Given the description of an element on the screen output the (x, y) to click on. 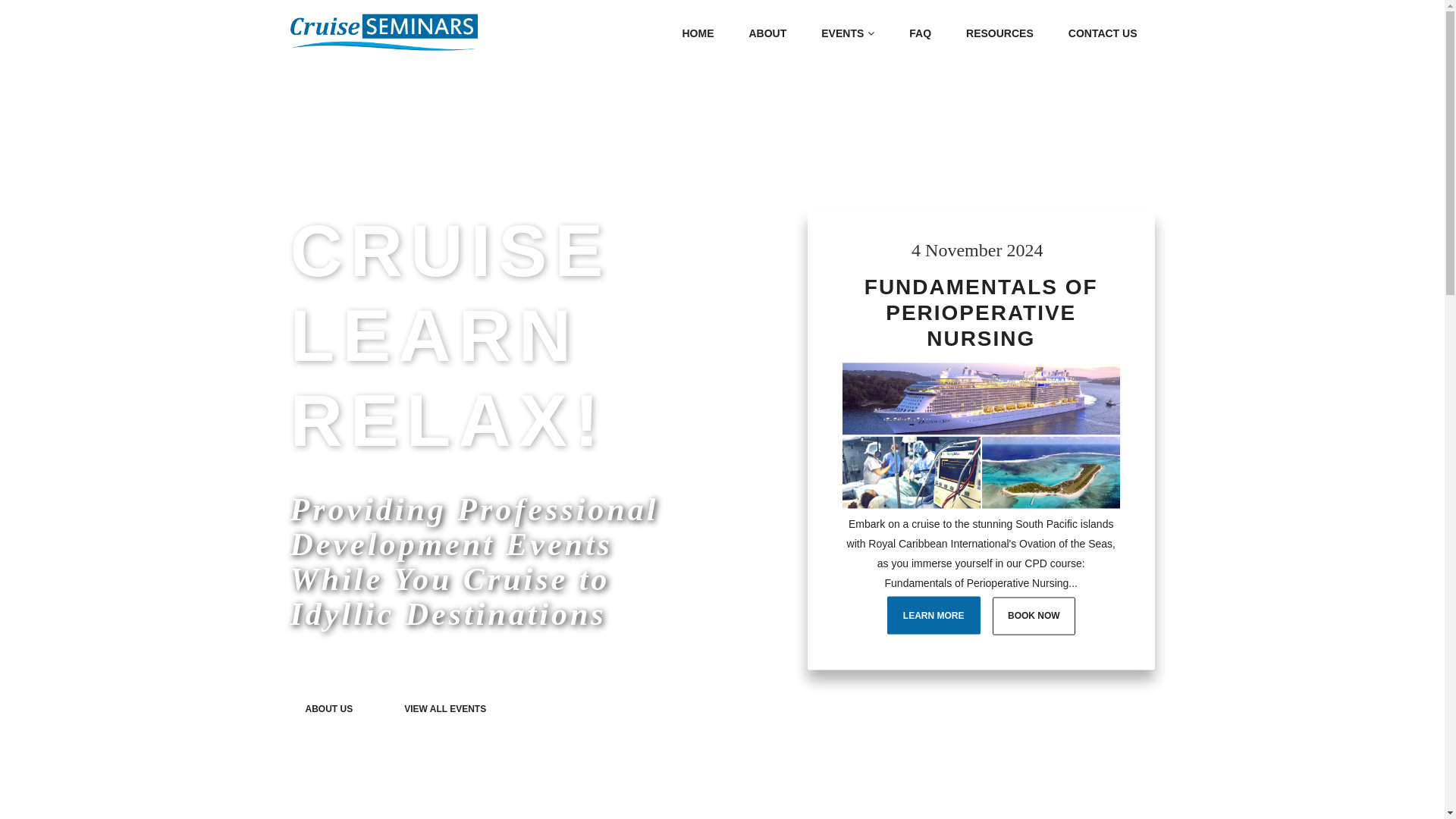
BOOK NOW Element type: text (1033, 615)
RESOURCES Element type: text (999, 33)
ABOUT US Element type: text (328, 708)
HOME Element type: text (697, 33)
ABOUT Element type: text (767, 33)
EVENTS Element type: text (847, 33)
FAQ Element type: text (919, 33)
CONTACT US Element type: text (1102, 33)
FUNDAMENTALS OF PERIOPERATIVE NURSING Element type: text (981, 312)
LEARN MORE Element type: text (933, 614)
VIEW ALL EVENTS Element type: text (445, 708)
